Given the description of an element on the screen output the (x, y) to click on. 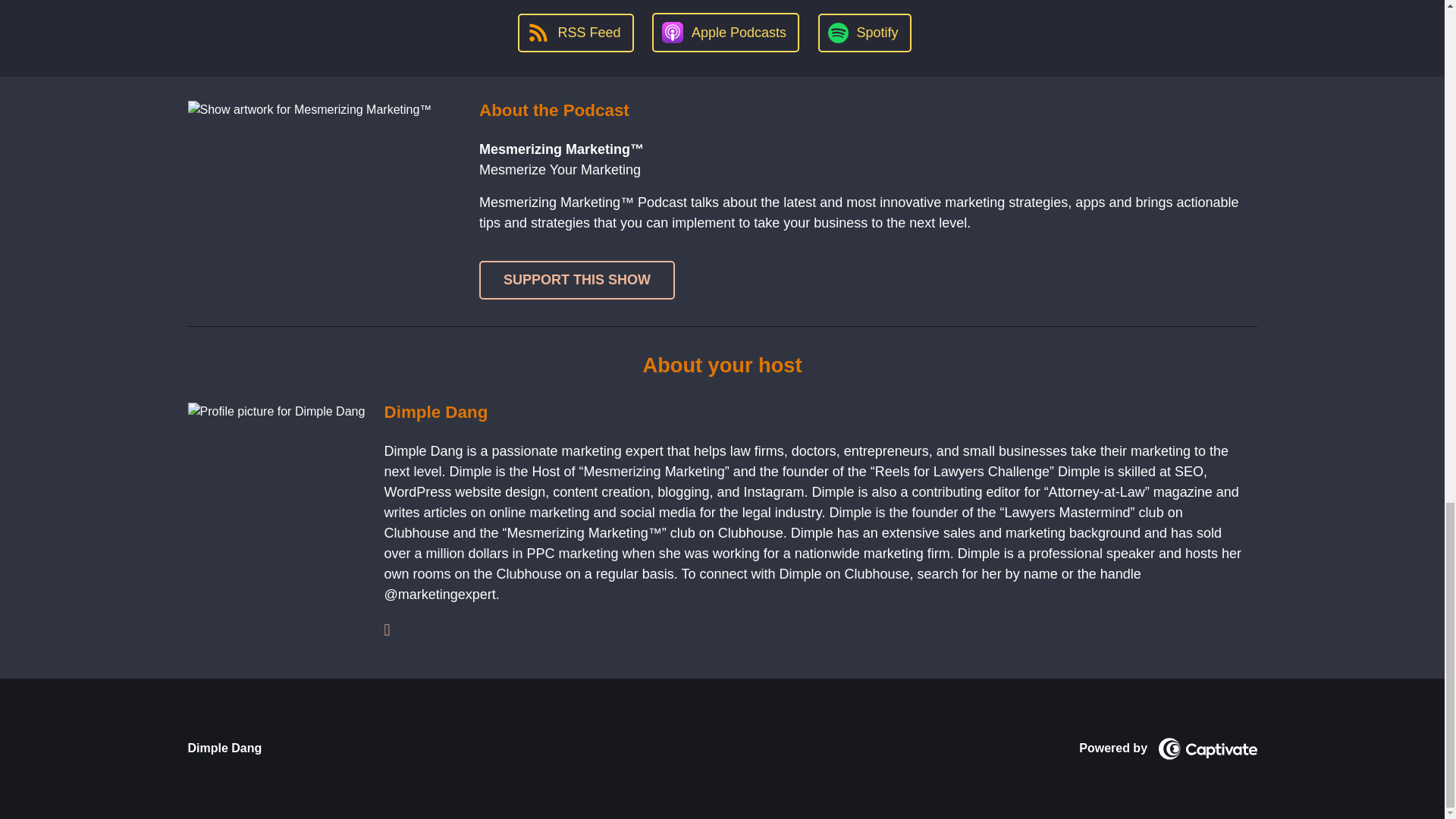
Spotify (863, 32)
SUPPORT THIS SHOW (577, 280)
RSS Feed (575, 32)
Apple Podcasts (725, 32)
